Given the description of an element on the screen output the (x, y) to click on. 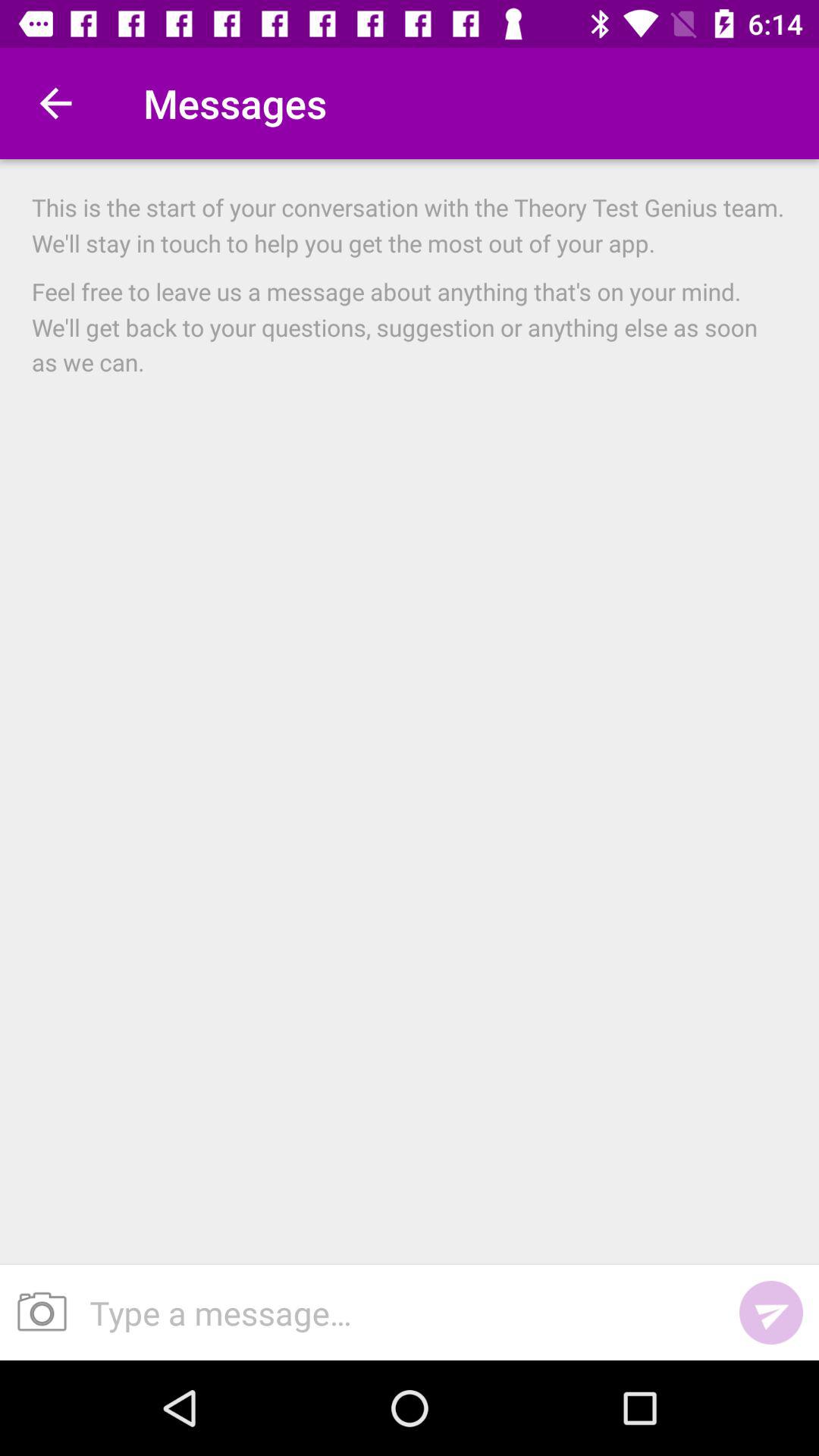
press the item to the left of the messages icon (55, 103)
